Given the description of an element on the screen output the (x, y) to click on. 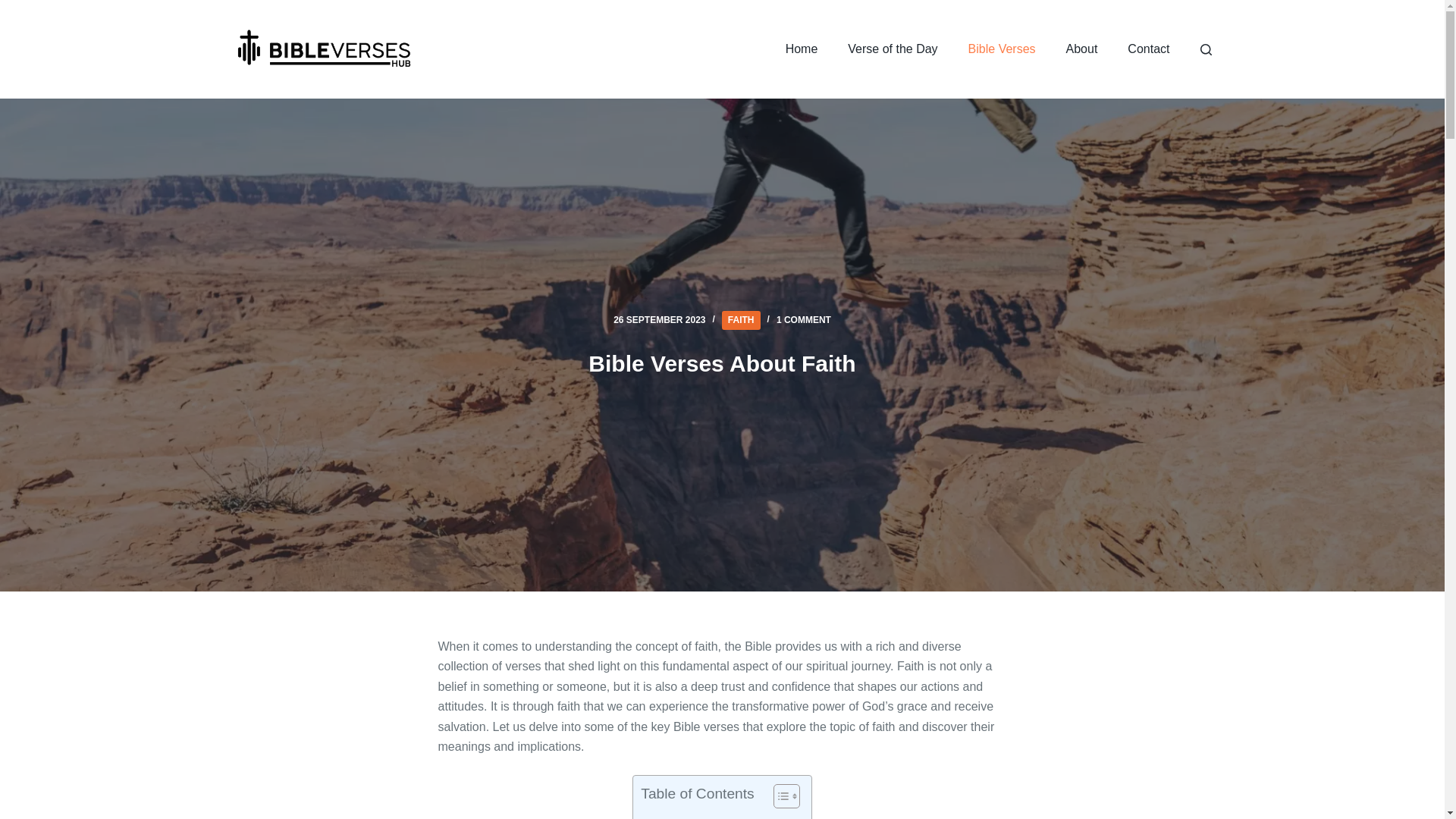
1 COMMENT (803, 319)
Bible Verses (1002, 49)
Bible Verses About Faith (722, 363)
Skip to content (15, 7)
FAITH (741, 320)
Verse of the Day (892, 49)
